Given the description of an element on the screen output the (x, y) to click on. 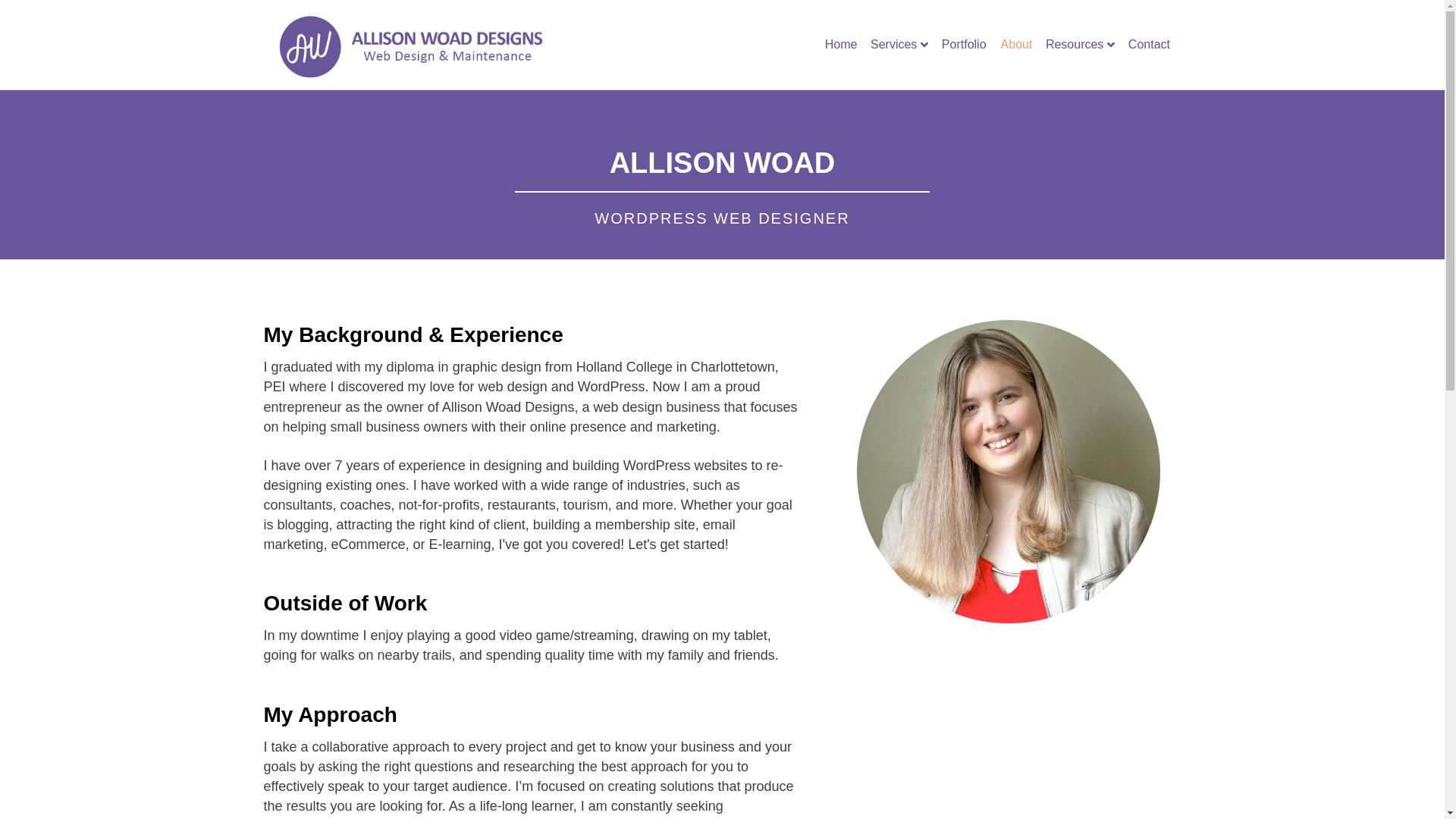
Allison Woad Headshot Element type: hover (1008, 471)
Resources Element type: text (1079, 44)
Services Element type: text (899, 44)
Portfolio Element type: text (963, 44)
Contact Element type: text (1148, 44)
About Element type: text (1016, 44)
Home Element type: text (840, 44)
